Given the description of an element on the screen output the (x, y) to click on. 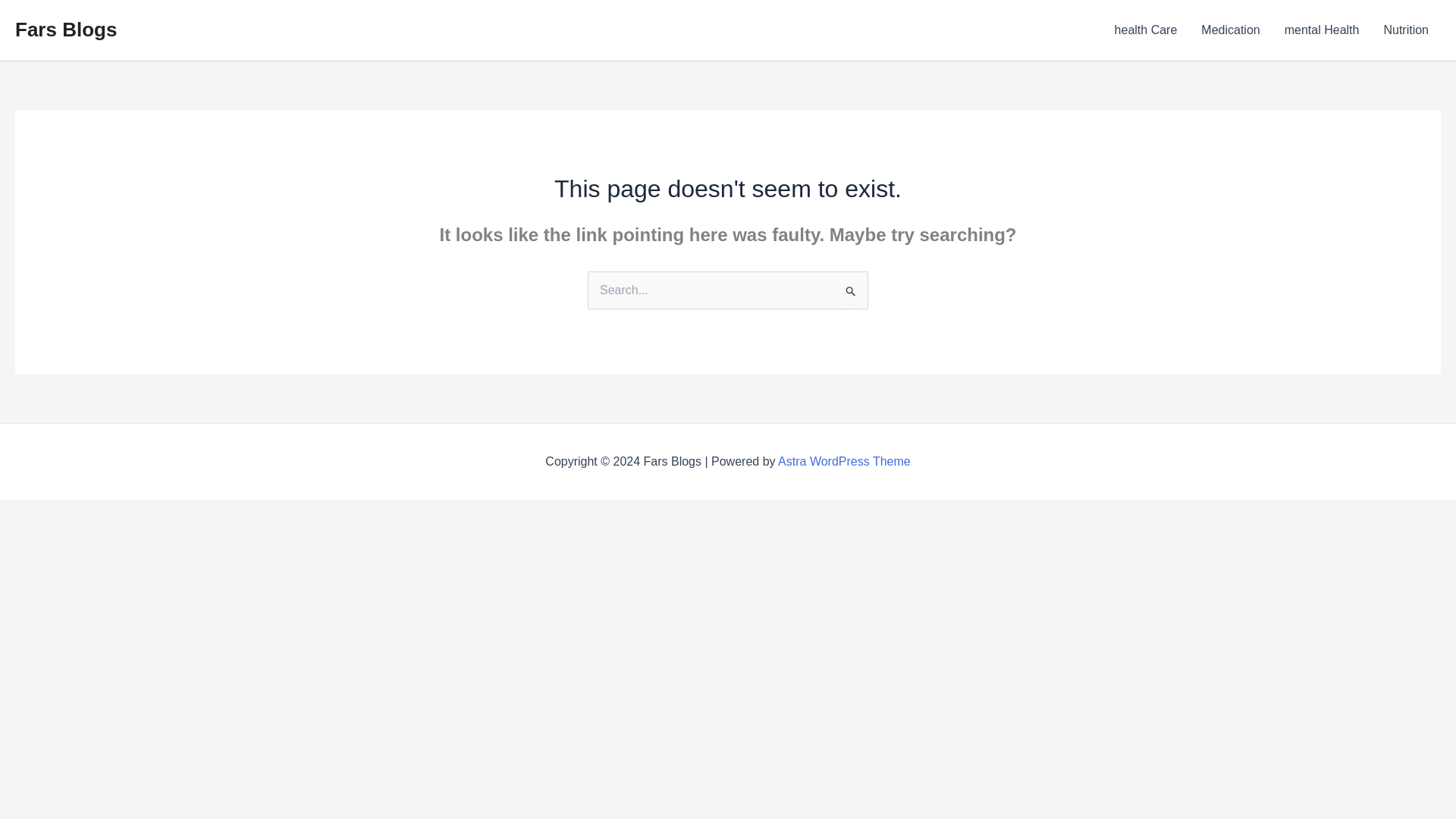
Medication (1230, 30)
Nutrition (1406, 30)
mental Health (1321, 30)
health Care (1145, 30)
Fars Blogs (65, 29)
Astra WordPress Theme (844, 461)
